Given the description of an element on the screen output the (x, y) to click on. 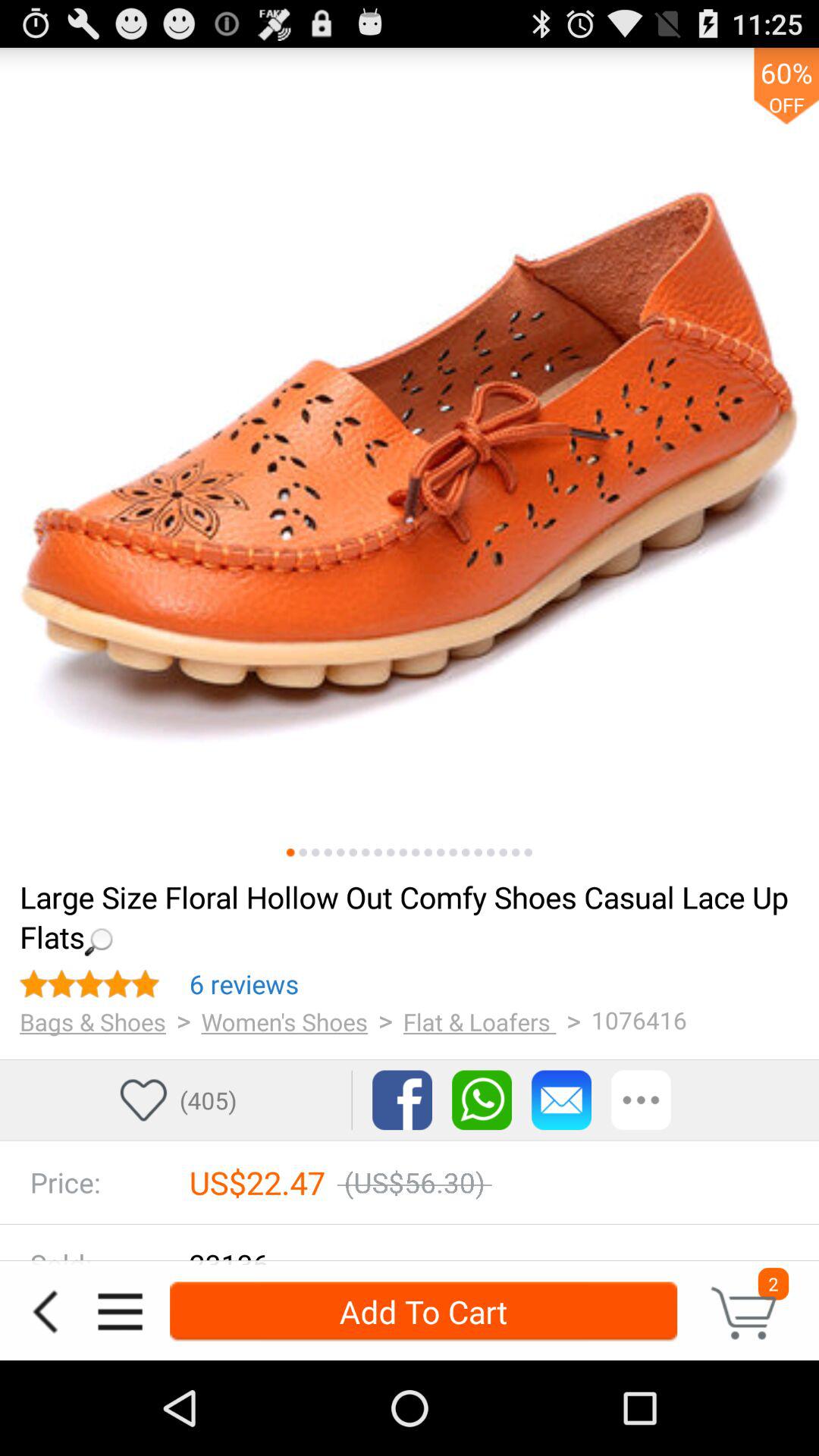
press the app next to > icon (479, 1021)
